Given the description of an element on the screen output the (x, y) to click on. 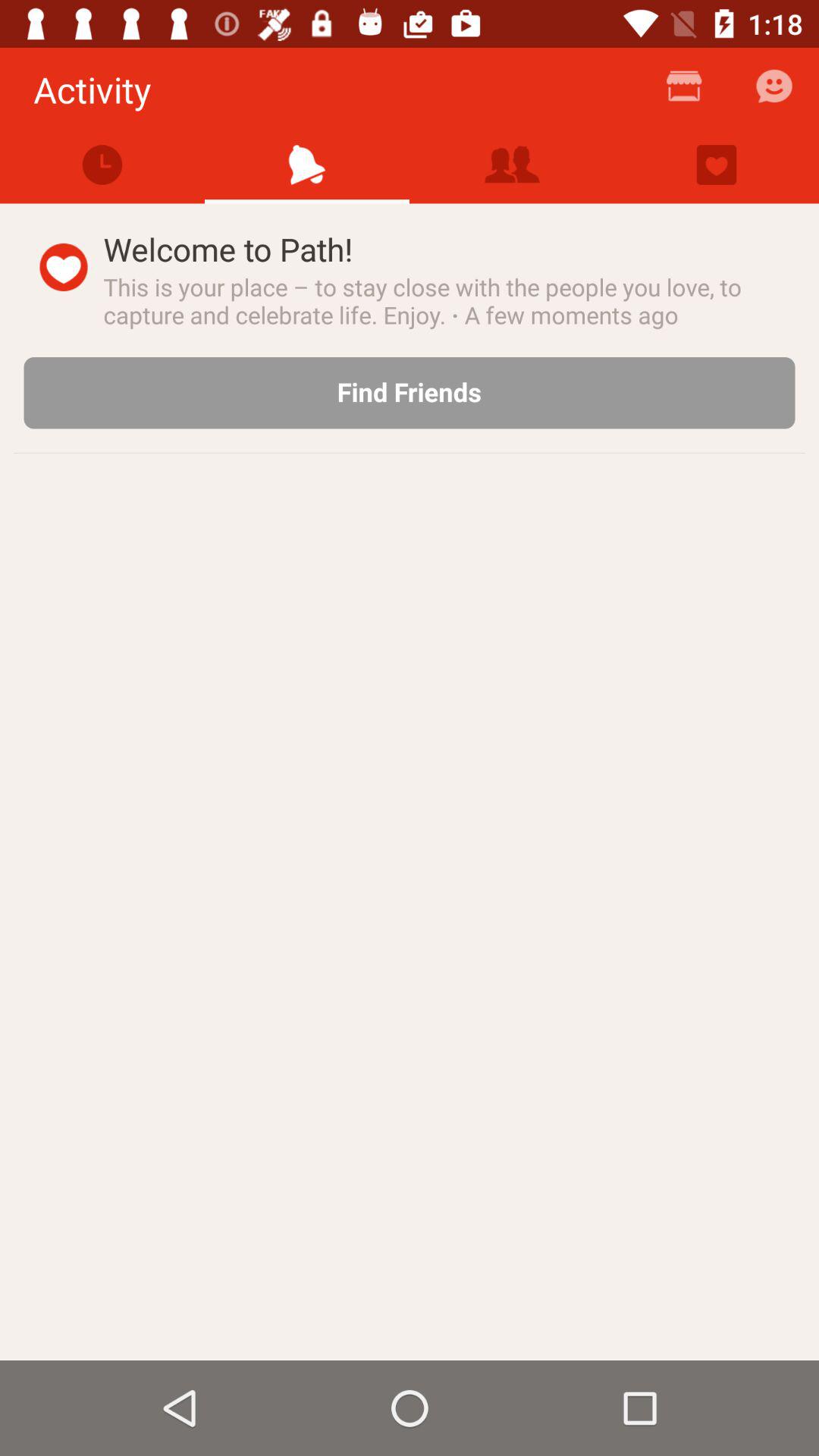
jump until the find friends icon (409, 392)
